Given the description of an element on the screen output the (x, y) to click on. 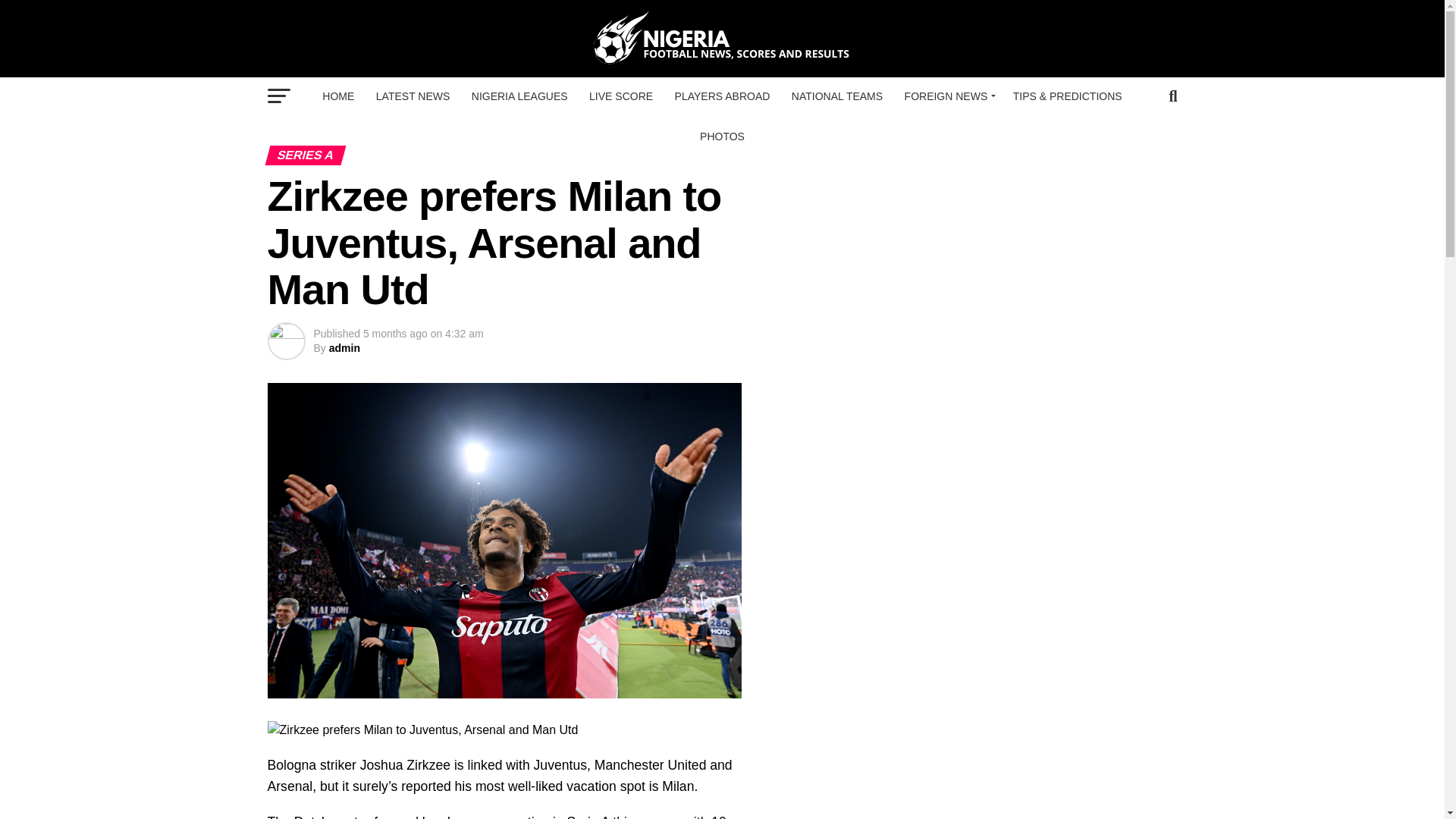
LATEST NEWS (413, 95)
NIGERIA LEAGUES (519, 95)
HOME (337, 95)
LIVE SCORE (620, 95)
PLAYERS ABROAD (721, 95)
NATIONAL TEAMS (837, 95)
